Given the description of an element on the screen output the (x, y) to click on. 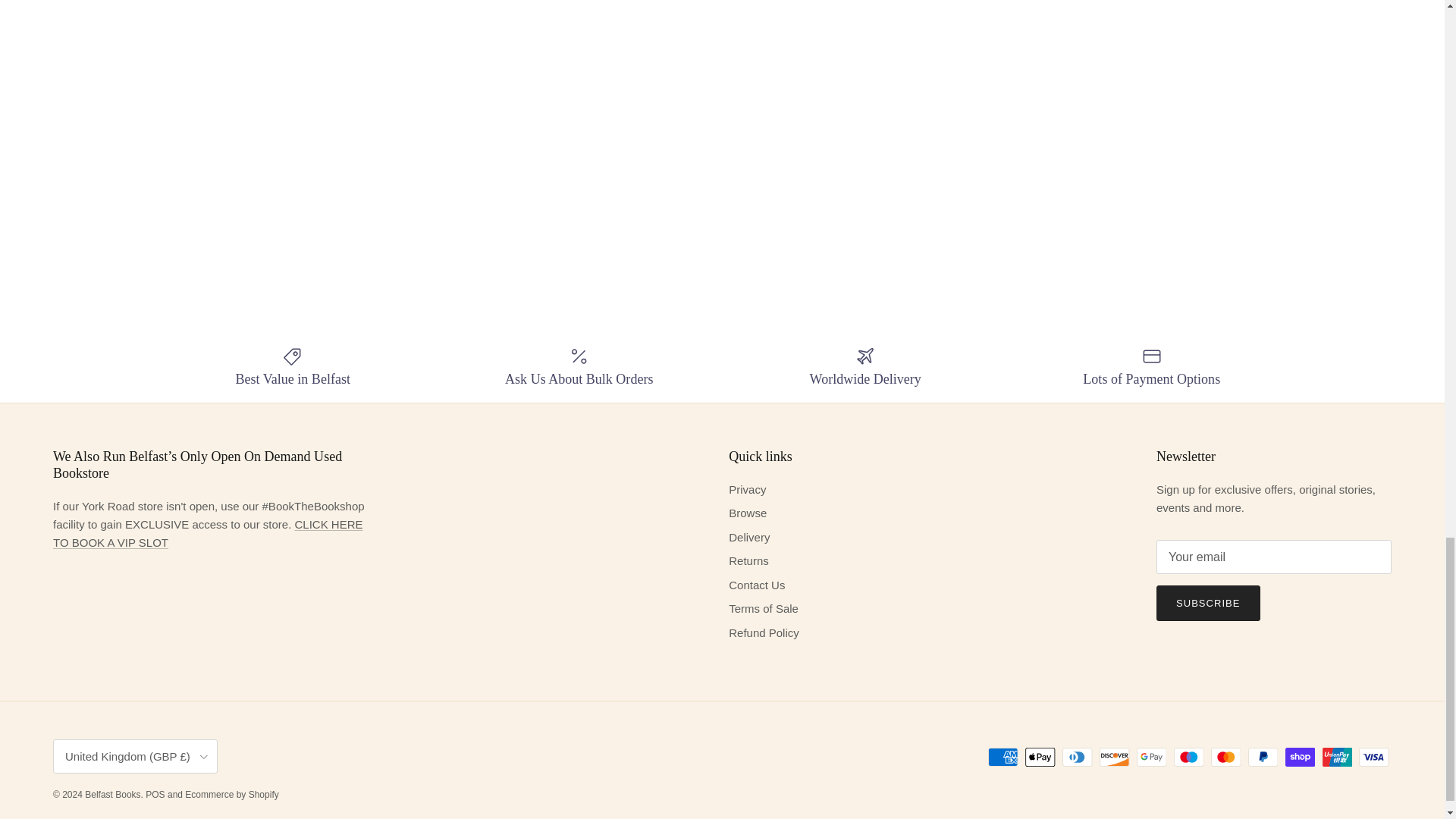
Union Pay (1337, 756)
PayPal (1262, 756)
Google Pay (1151, 756)
Discover (1114, 756)
Diners Club (1077, 756)
Maestro (1188, 756)
Apple Pay (1040, 756)
American Express (1002, 756)
Mastercard (1225, 756)
Shop Pay (1299, 756)
